Given the description of an element on the screen output the (x, y) to click on. 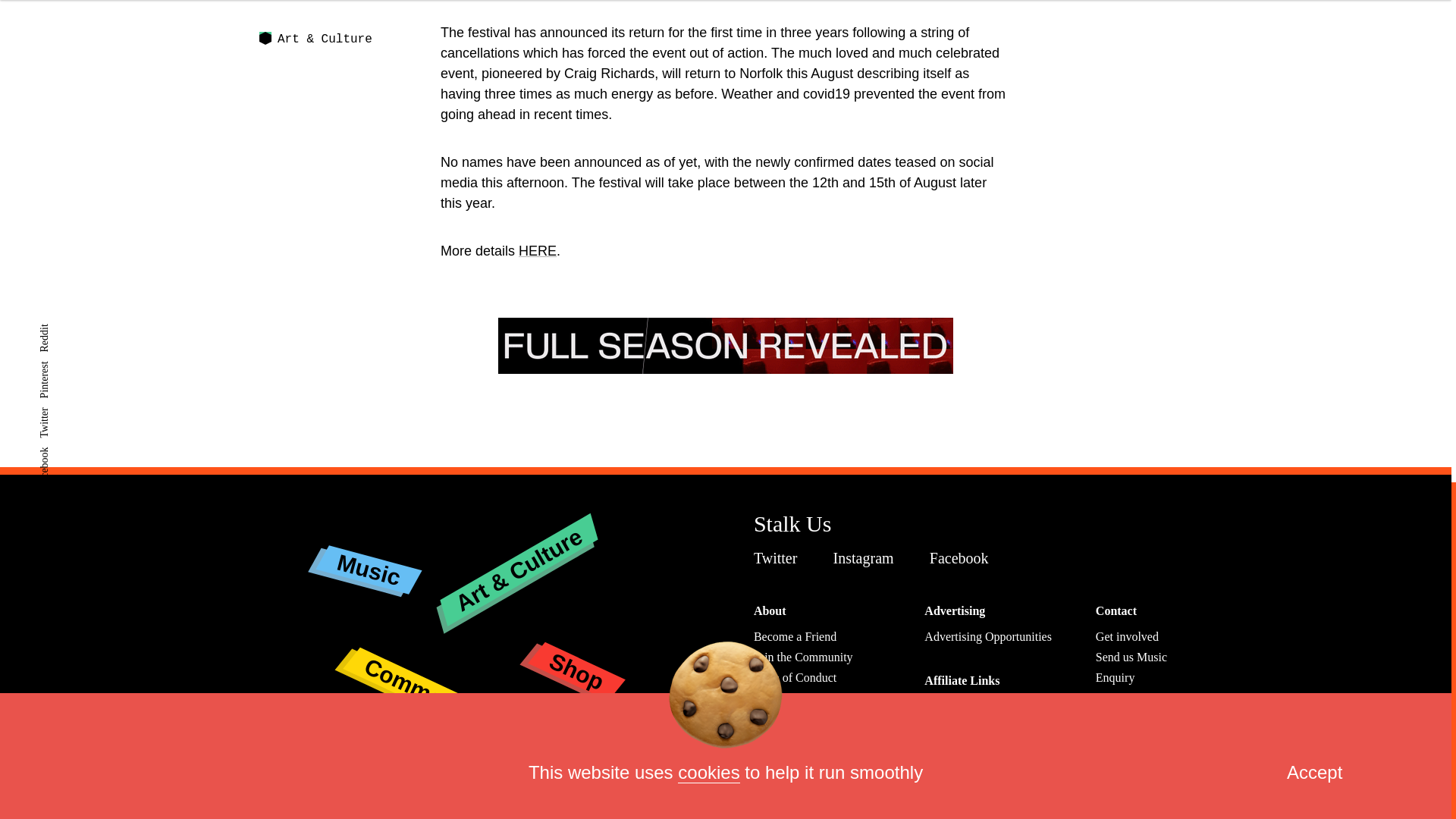
Send us Music (1131, 656)
Get involved (1127, 635)
Contact (1116, 610)
HERE (537, 250)
About (770, 610)
Shop (575, 653)
Music (366, 557)
Facebook (962, 558)
Twitter (779, 558)
Commentary (431, 659)
